Given the description of an element on the screen output the (x, y) to click on. 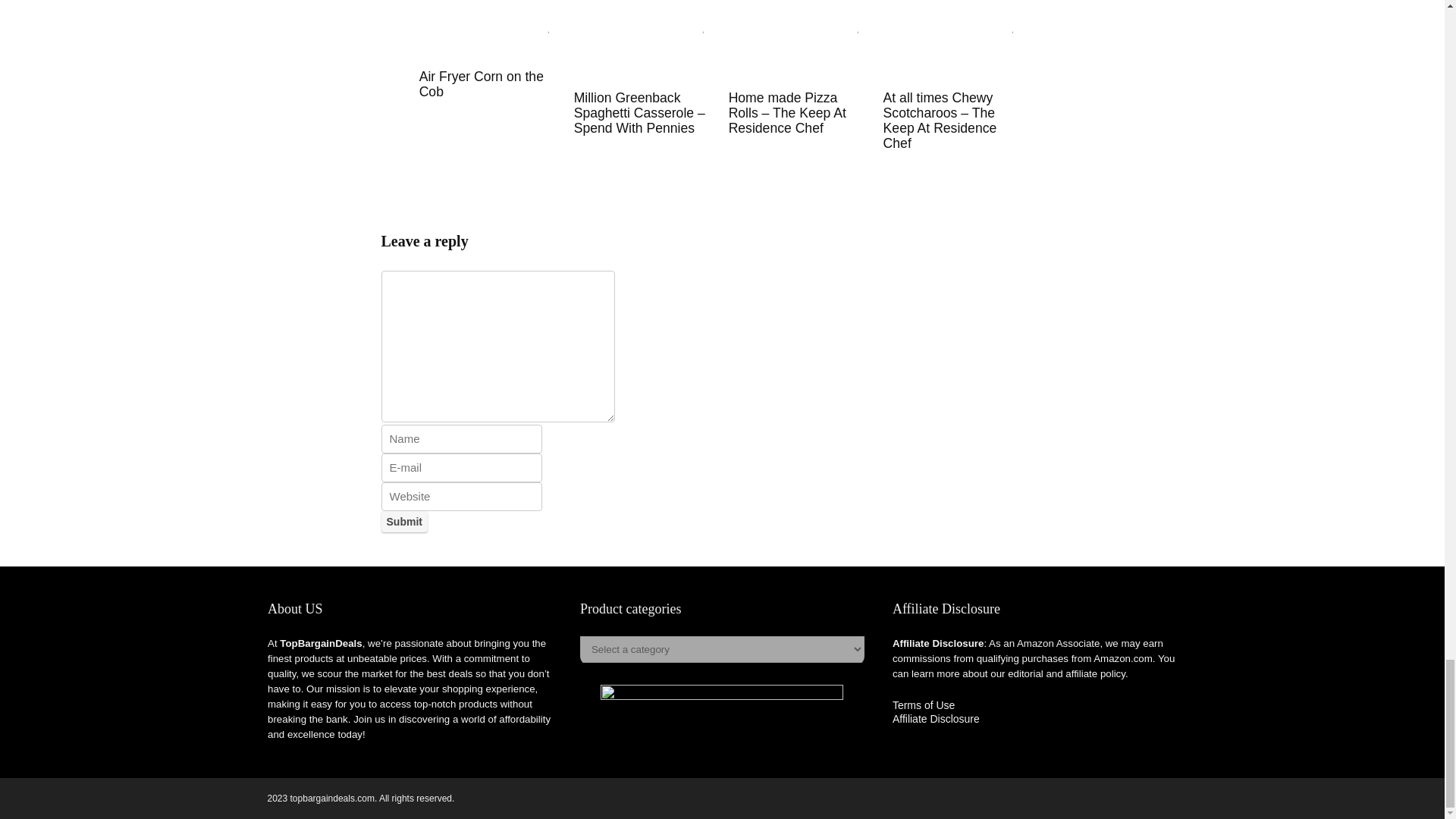
Submit (403, 521)
